Given the description of an element on the screen output the (x, y) to click on. 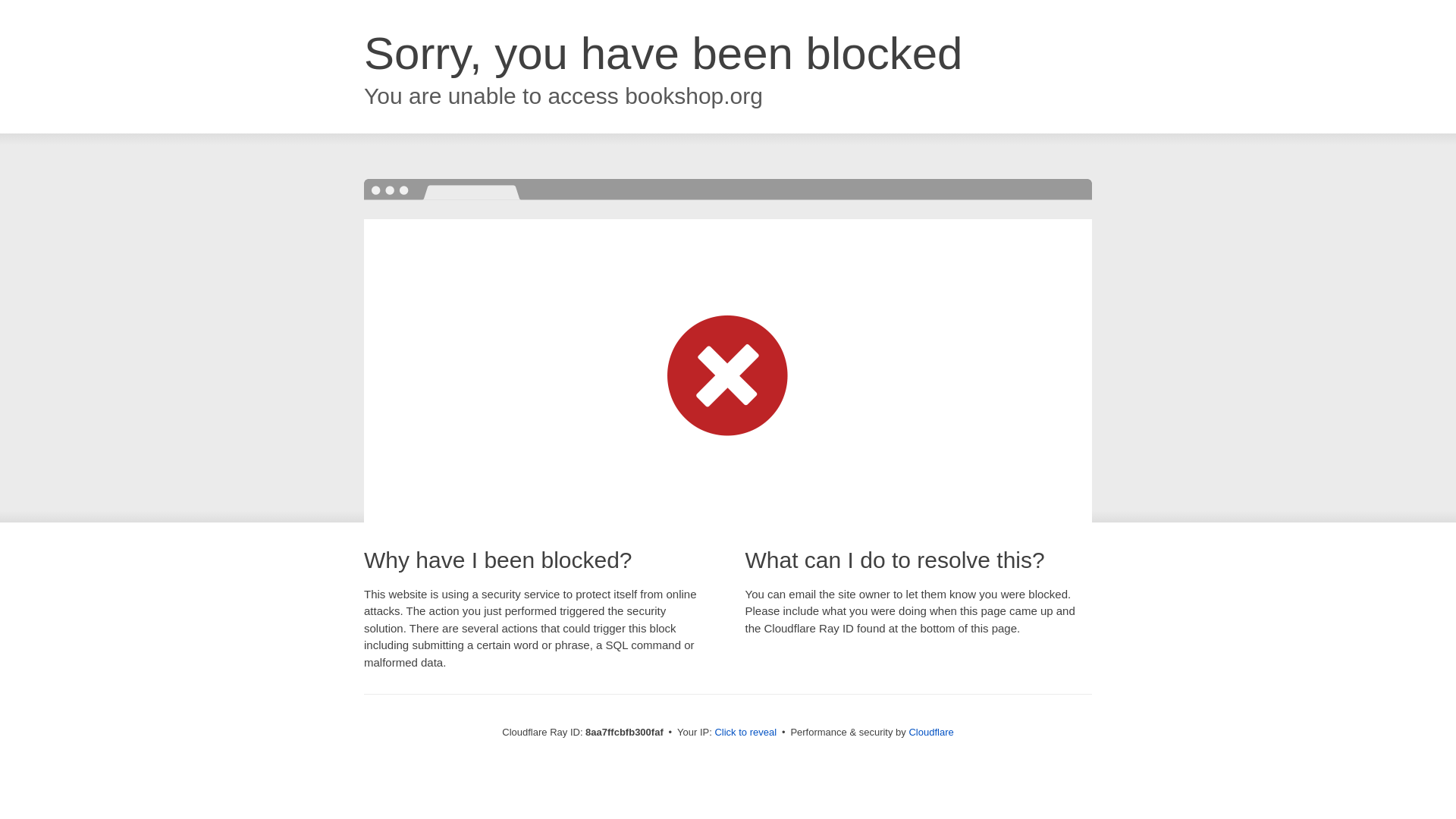
Cloudflare (930, 731)
Click to reveal (745, 732)
